Given the description of an element on the screen output the (x, y) to click on. 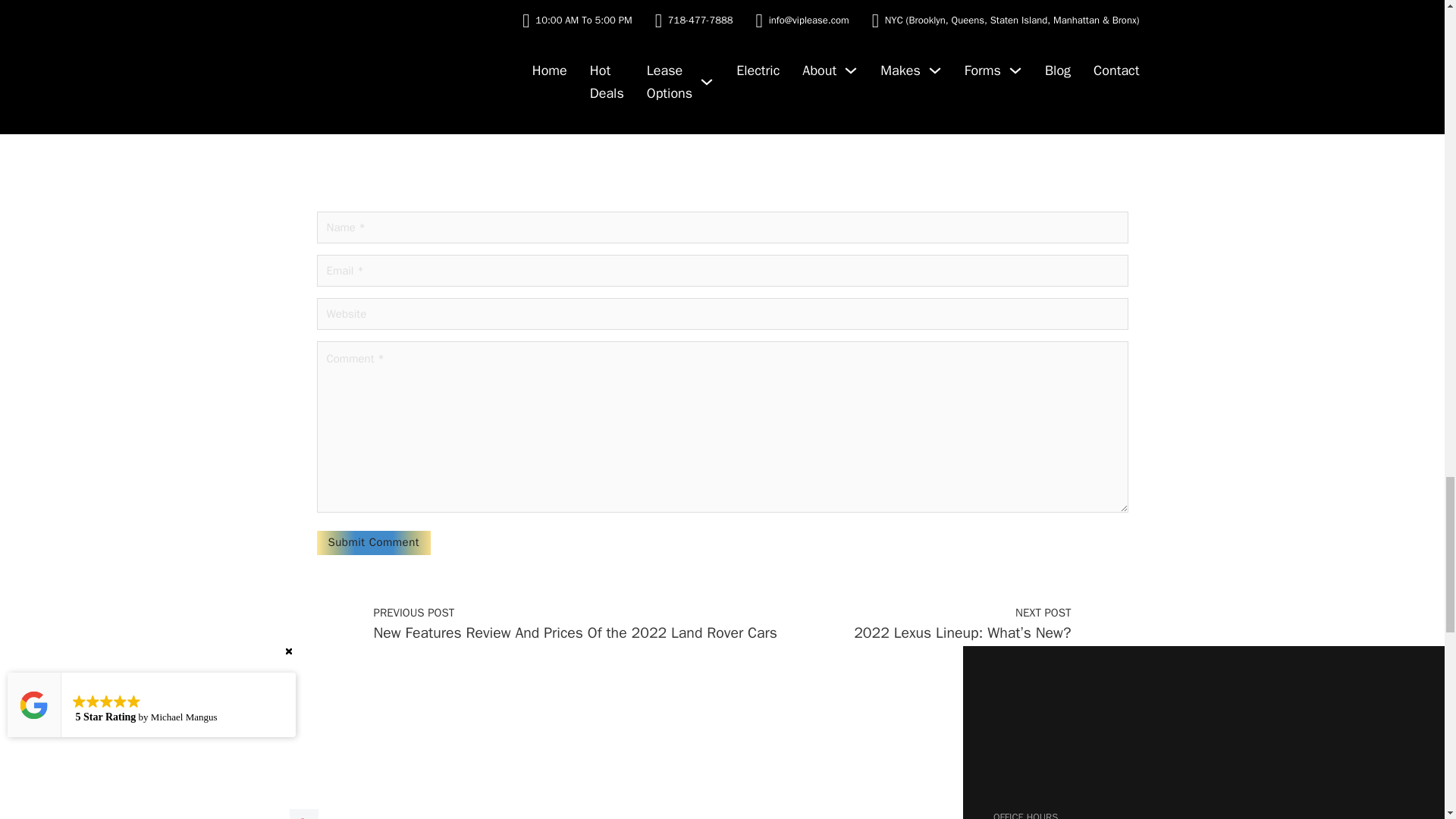
Submit Comment (373, 542)
